Given the description of an element on the screen output the (x, y) to click on. 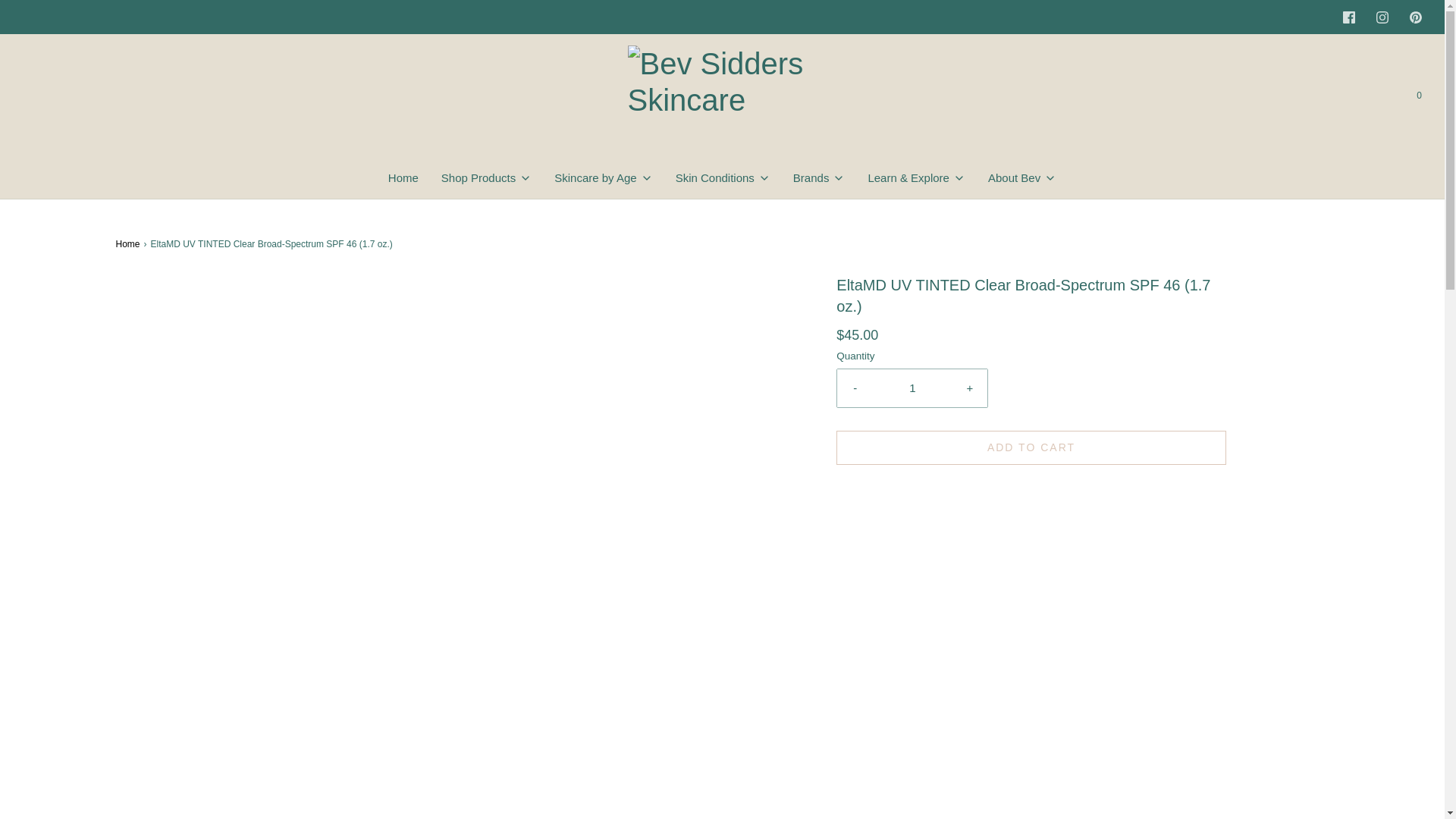
Back to the frontpage (128, 244)
0 (1417, 95)
Home (403, 177)
Cart (1417, 95)
Shop Products (486, 177)
1 (911, 388)
